Given the description of an element on the screen output the (x, y) to click on. 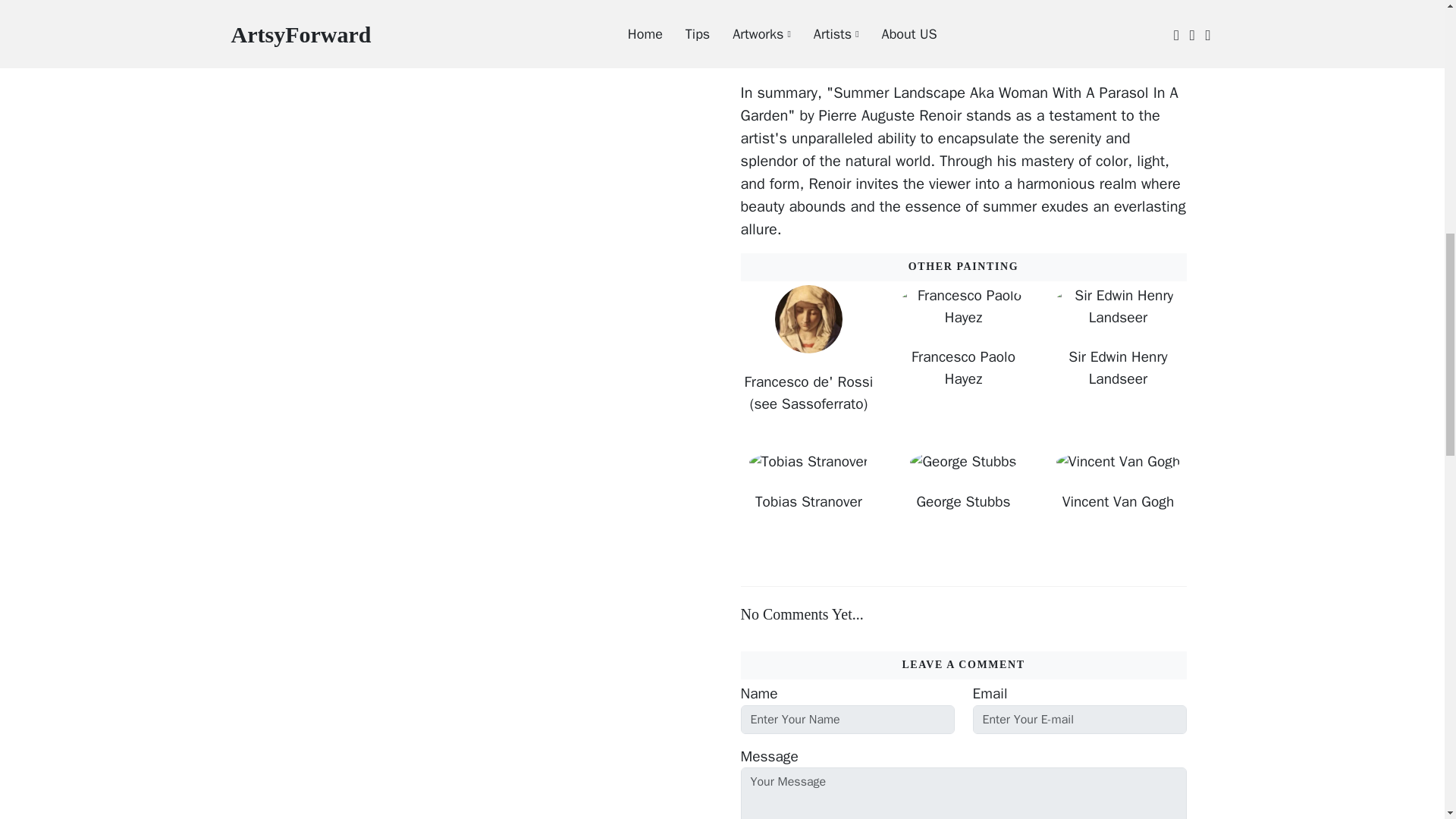
Tobias Stranover (807, 502)
George Stubbs (962, 502)
Francesco Paolo Hayez (962, 368)
Vincent Van Gogh (1117, 502)
Sir Edwin Henry Landseer (1117, 368)
